Given the description of an element on the screen output the (x, y) to click on. 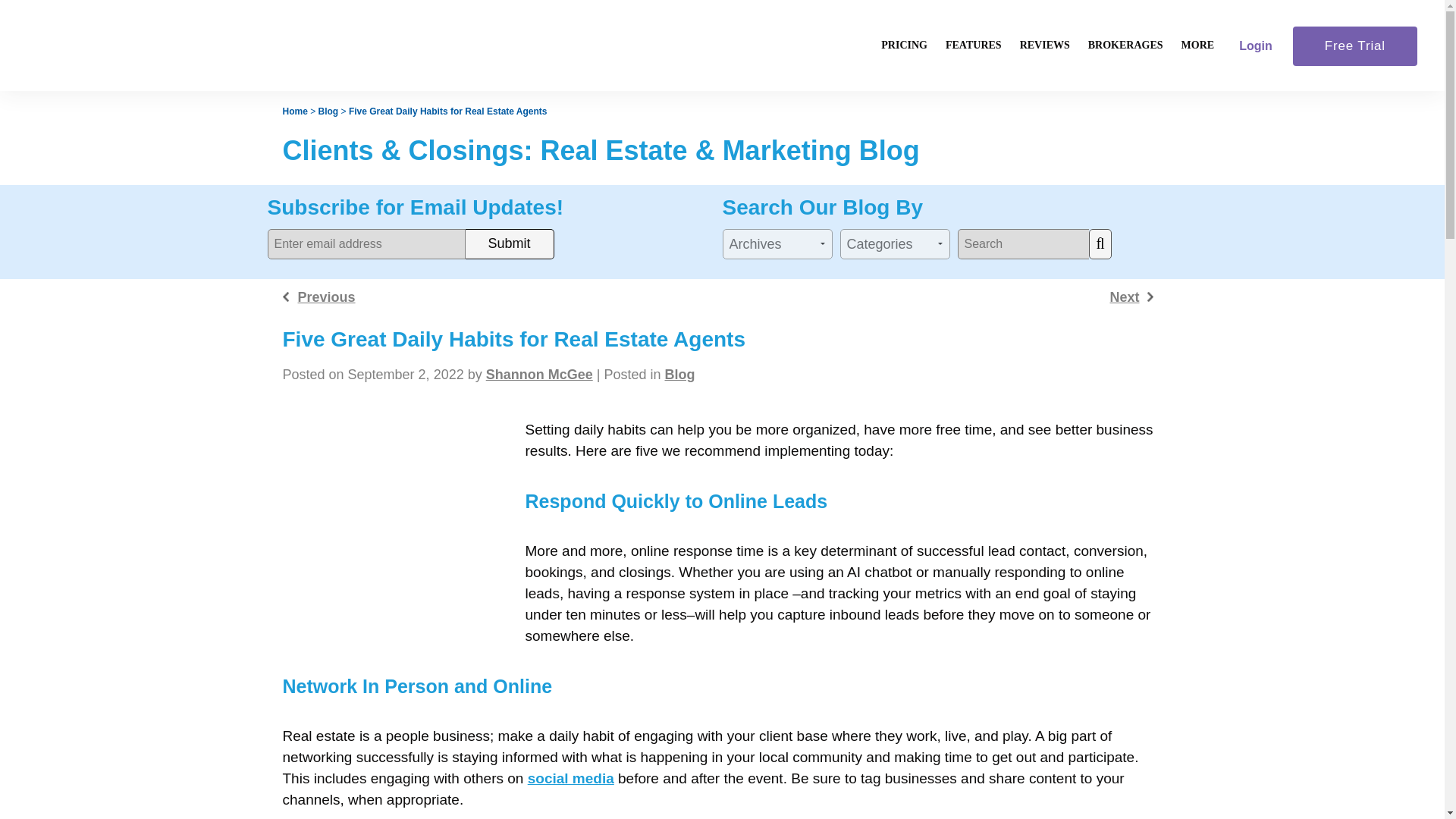
Real Estate CRM (972, 101)
Teams (972, 226)
Integrations (972, 251)
Concierge Setup (972, 276)
IXACT Recruiter (1251, 126)
IXACT Contact (1251, 101)
Social Stream (972, 176)
Recruiting CRM (972, 301)
Direct Mail Marketing (972, 201)
Company Overview (1197, 201)
